Given the description of an element on the screen output the (x, y) to click on. 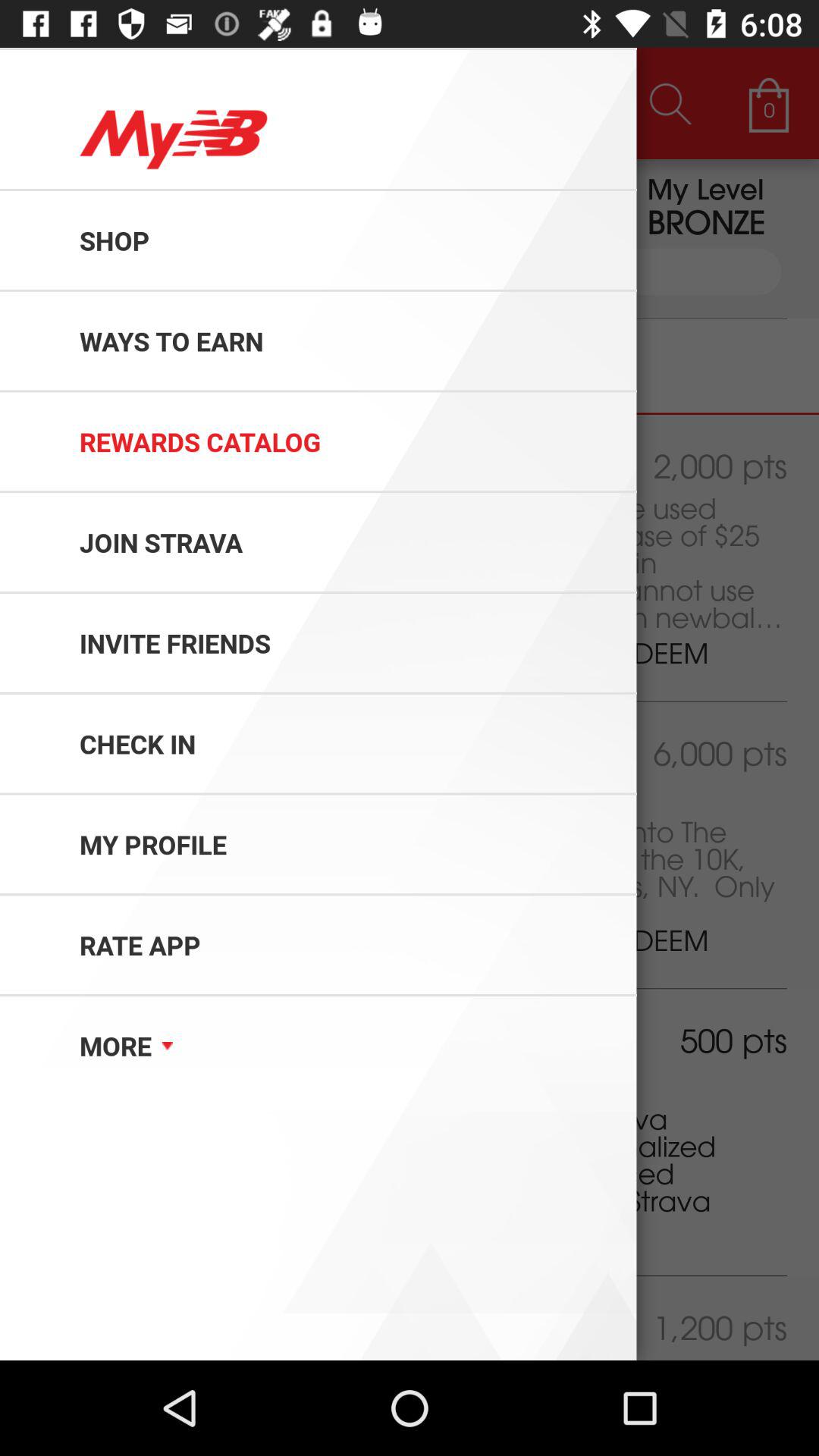
click on more (94, 1084)
